Given the description of an element on the screen output the (x, y) to click on. 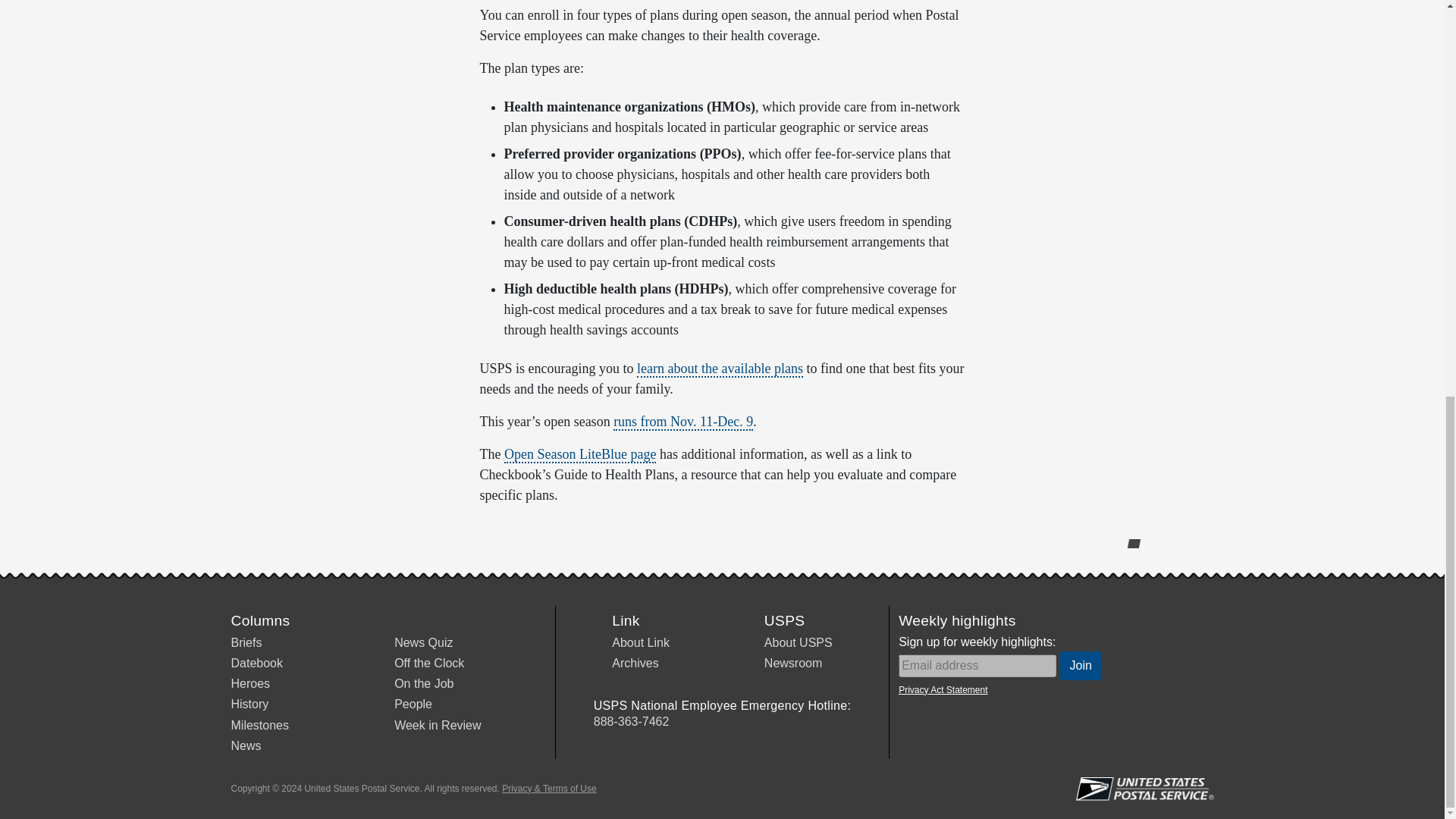
Milestones (259, 725)
On the Job (423, 683)
Open Season LiteBlue page (579, 454)
runs from Nov. 11-Dec. 9 (682, 422)
Off the Clock (429, 662)
Briefs (246, 642)
Archives (634, 662)
News Quiz (423, 642)
Datebook (256, 662)
Week in Review (437, 725)
